Given the description of an element on the screen output the (x, y) to click on. 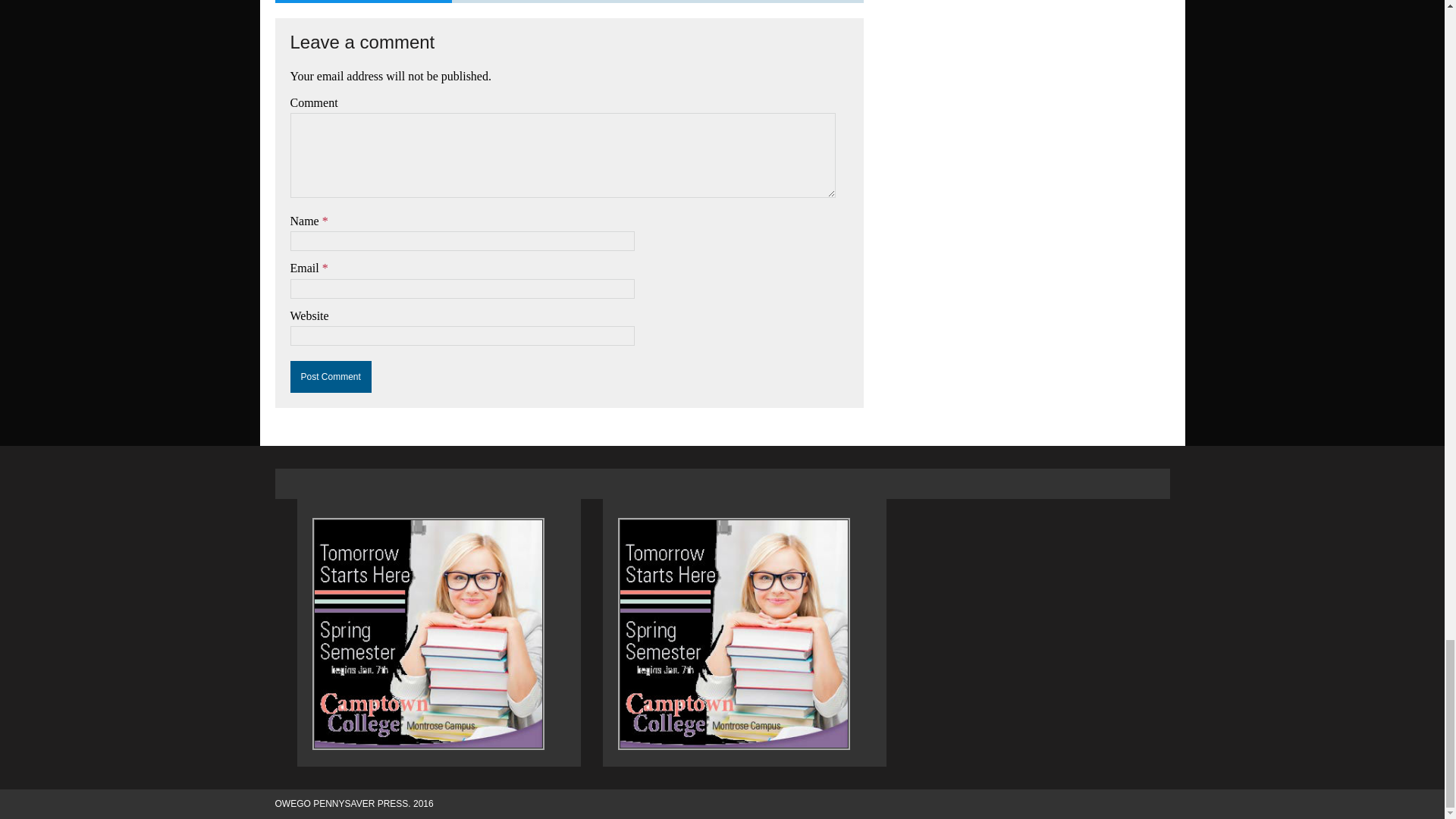
House-Test-B-WEB-322x322-DB-090216-black (428, 633)
Post Comment (330, 377)
House-Test-B-WEB-322x322-DB-090216-black (733, 633)
